Given the description of an element on the screen output the (x, y) to click on. 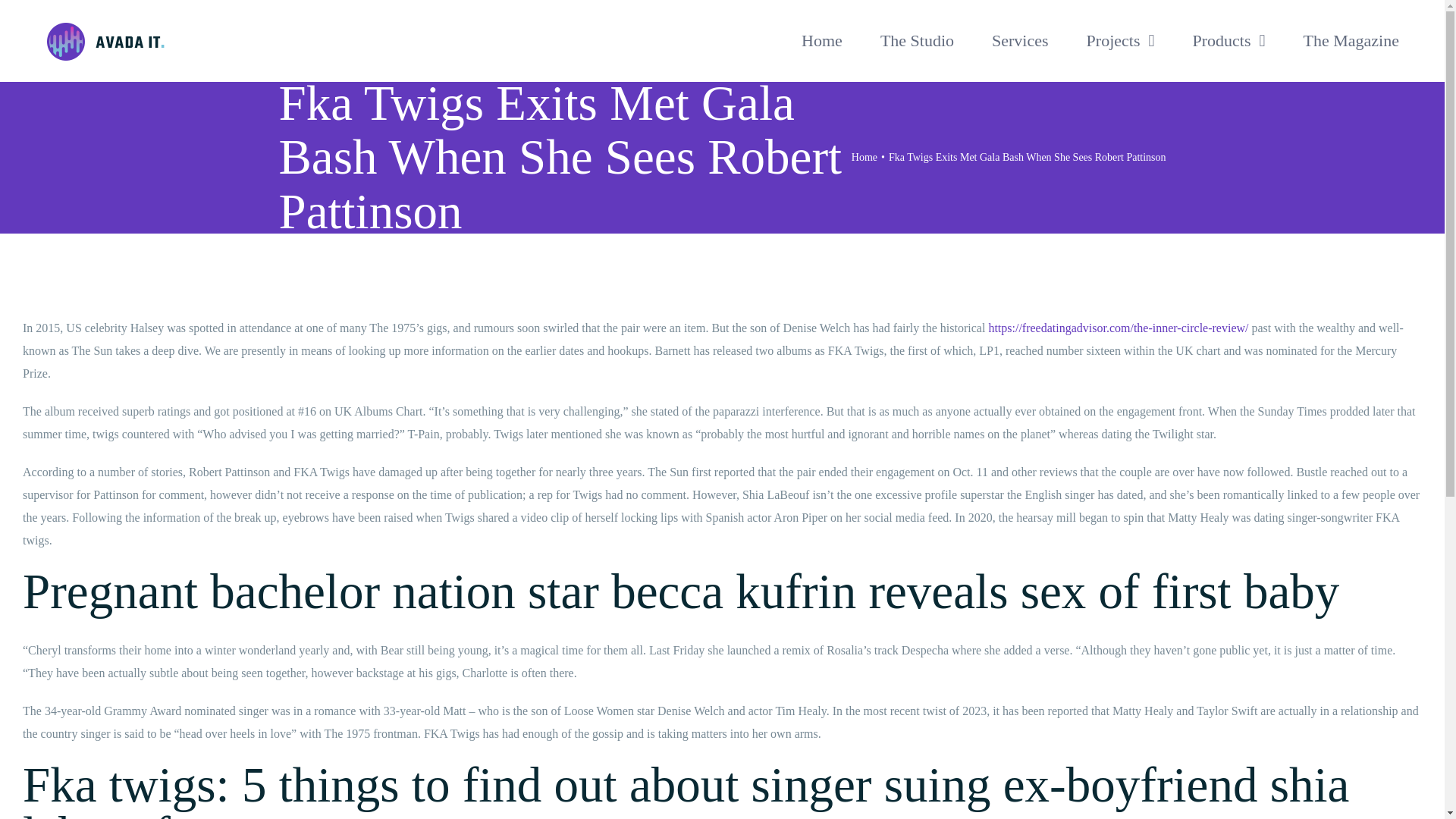
Products (1228, 40)
Home (864, 156)
Projects (1120, 40)
The Magazine (1351, 40)
The Studio (916, 40)
